Given the description of an element on the screen output the (x, y) to click on. 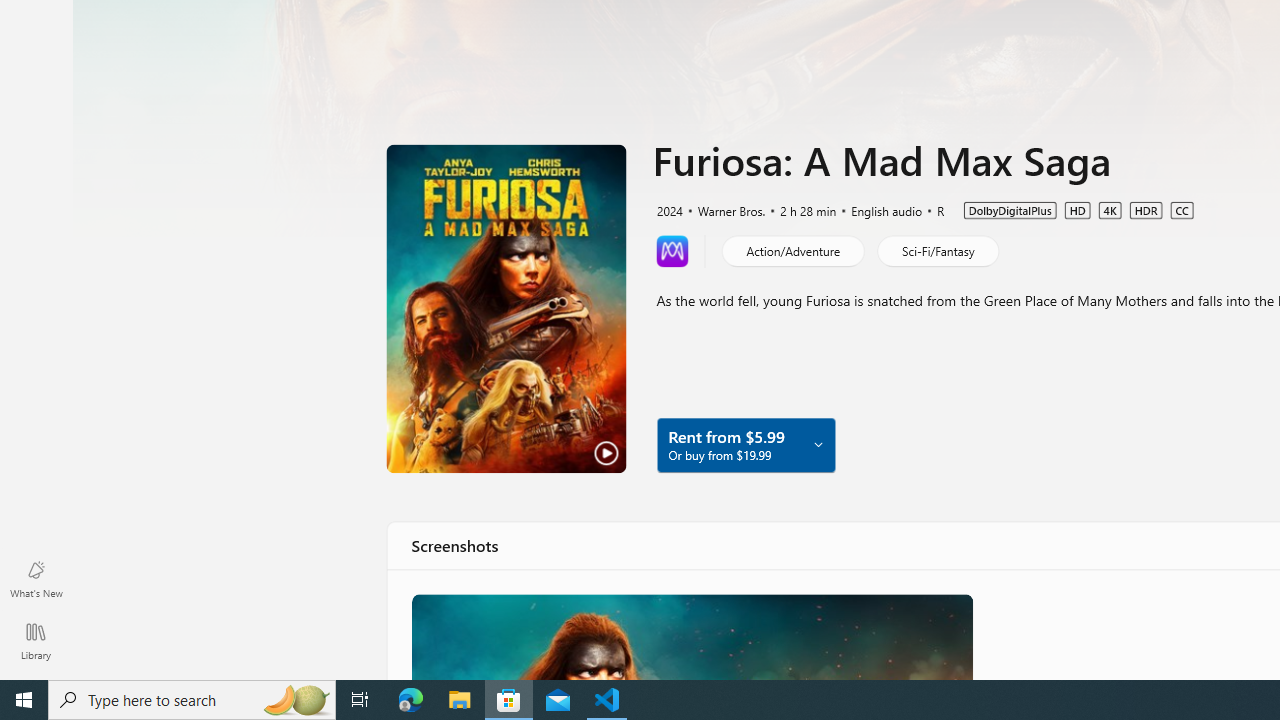
2024 (667, 209)
2 h 28 min (799, 209)
Play Trailer (505, 308)
Sci-Fi/Fantasy (937, 250)
R (932, 209)
Rent from $5.99 Or buy from $19.99 (745, 444)
Learn more about Movies Anywhere (671, 250)
Warner Bros. (723, 209)
Class: ListViewItem (690, 636)
English audio (877, 209)
Action/Adventure (792, 250)
